Given the description of an element on the screen output the (x, y) to click on. 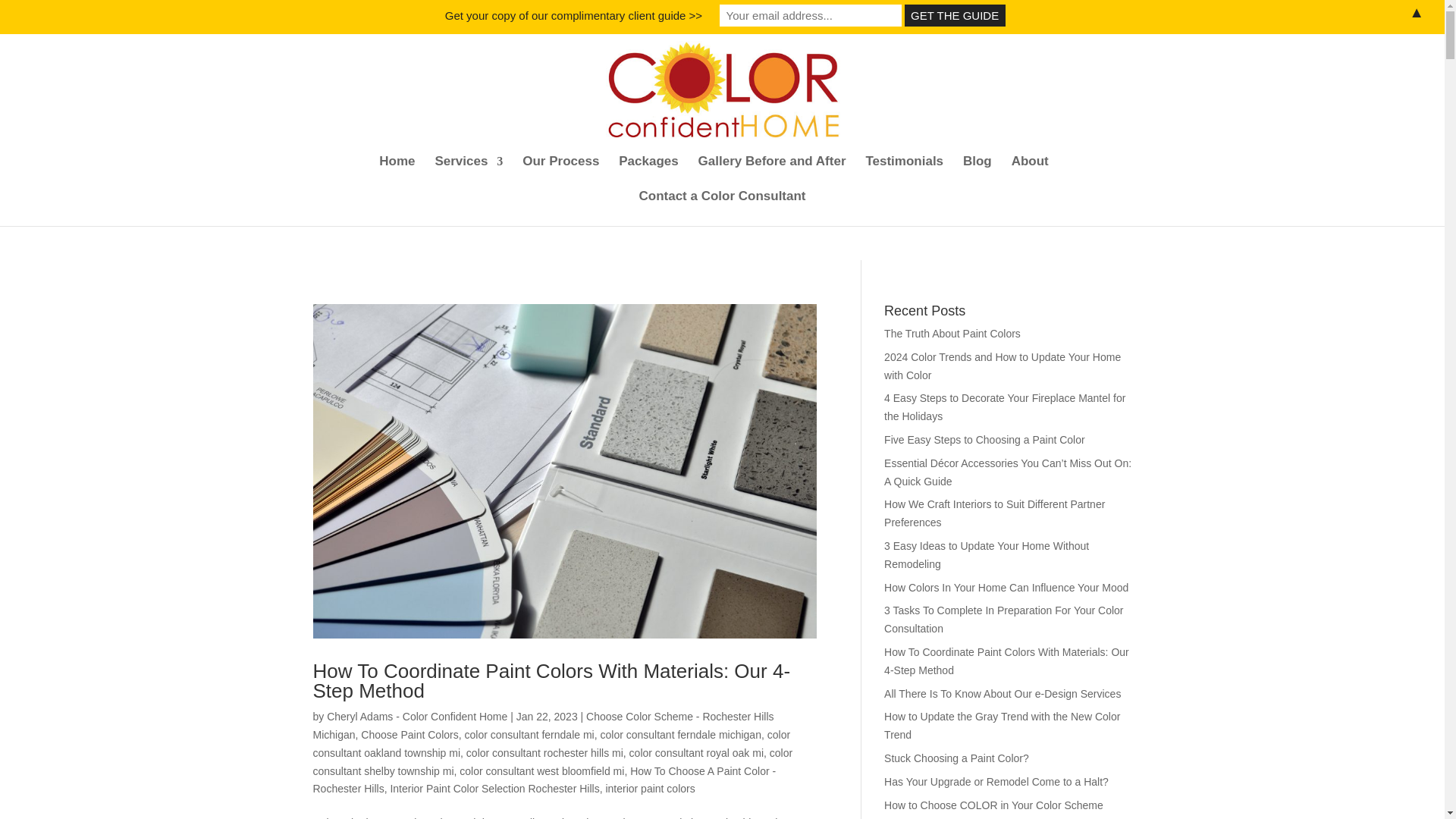
About (1029, 173)
Testimonials (903, 173)
Services (467, 173)
Posts by Cheryl Adams - Color Confident Home (416, 716)
Home (396, 173)
Choose Color Scheme - Rochester Hills Michigan (543, 725)
Gallery Before and After (771, 173)
GET THE GUIDE (955, 15)
Contact a Color Consultant (722, 208)
Packages (648, 173)
Our Process (560, 173)
Cheryl Adams - Color Confident Home (416, 716)
